Given the description of an element on the screen output the (x, y) to click on. 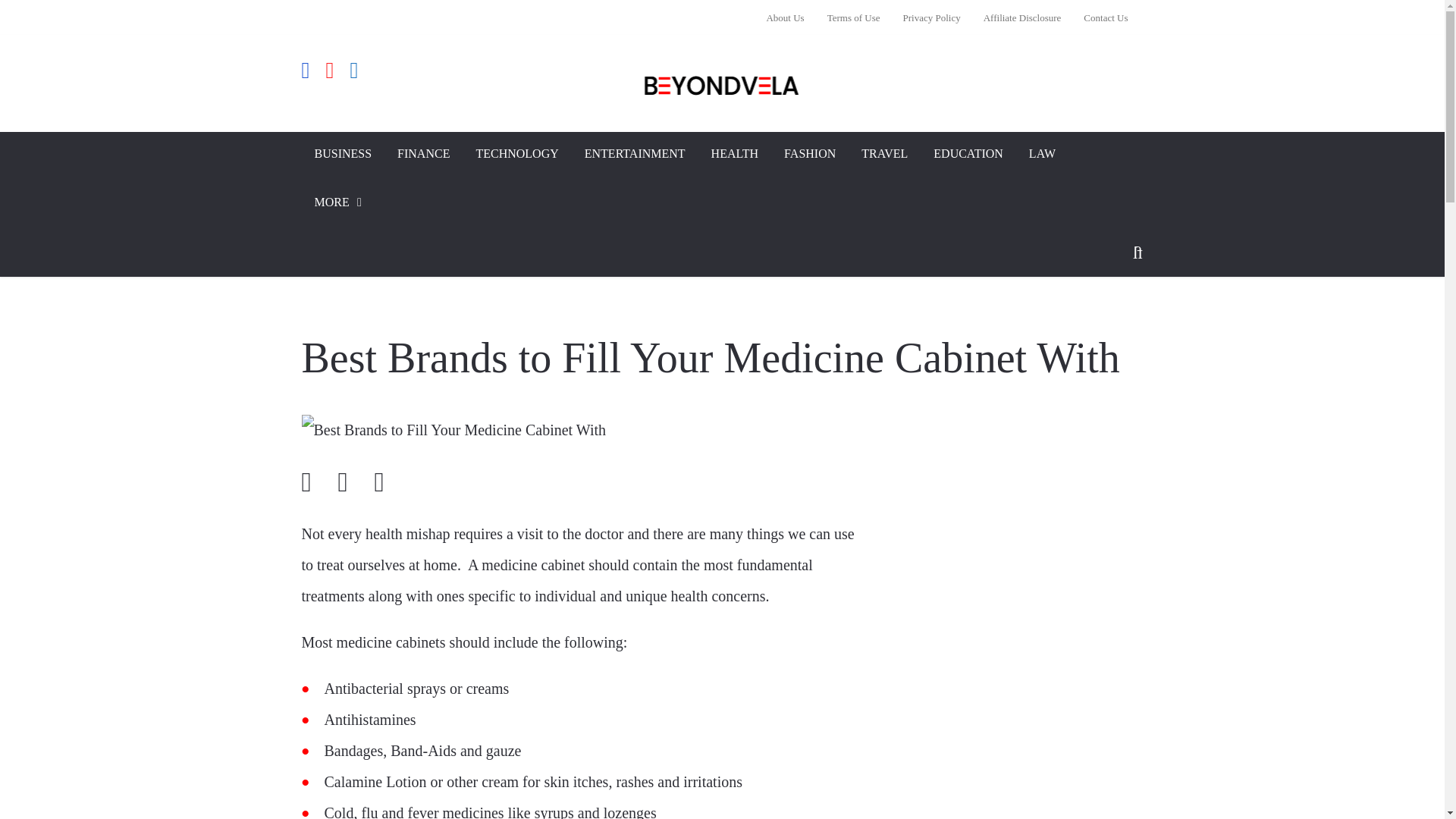
MORE (339, 204)
LAW (1042, 155)
FASHION (809, 155)
Privacy Policy (931, 17)
Contact Us (1098, 17)
BUSINESS (343, 155)
About Us (790, 17)
TRAVEL (884, 155)
Affiliate Disclosure (1022, 17)
HEALTH (734, 155)
